Given the description of an element on the screen output the (x, y) to click on. 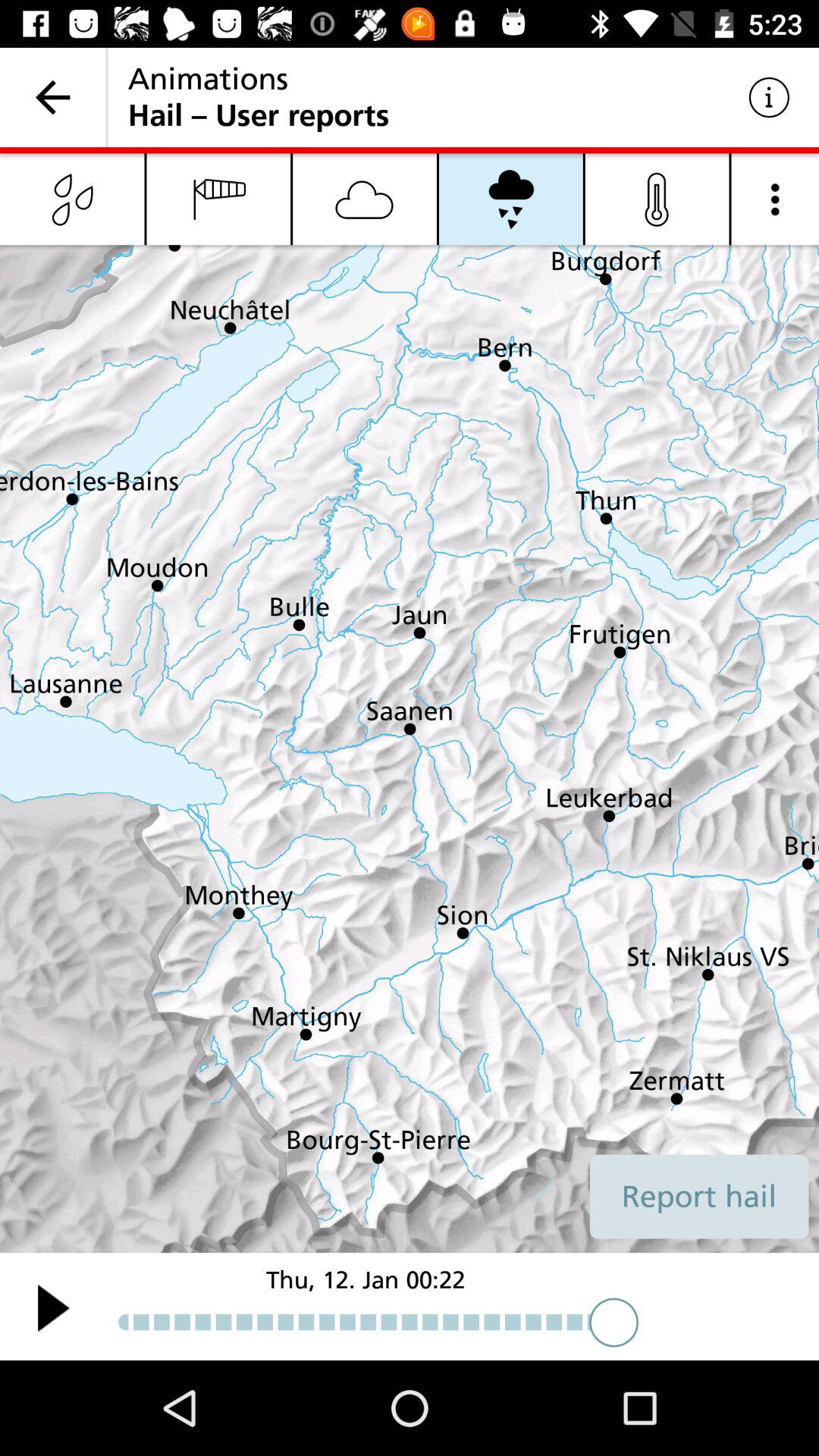
play (53, 1307)
